Given the description of an element on the screen output the (x, y) to click on. 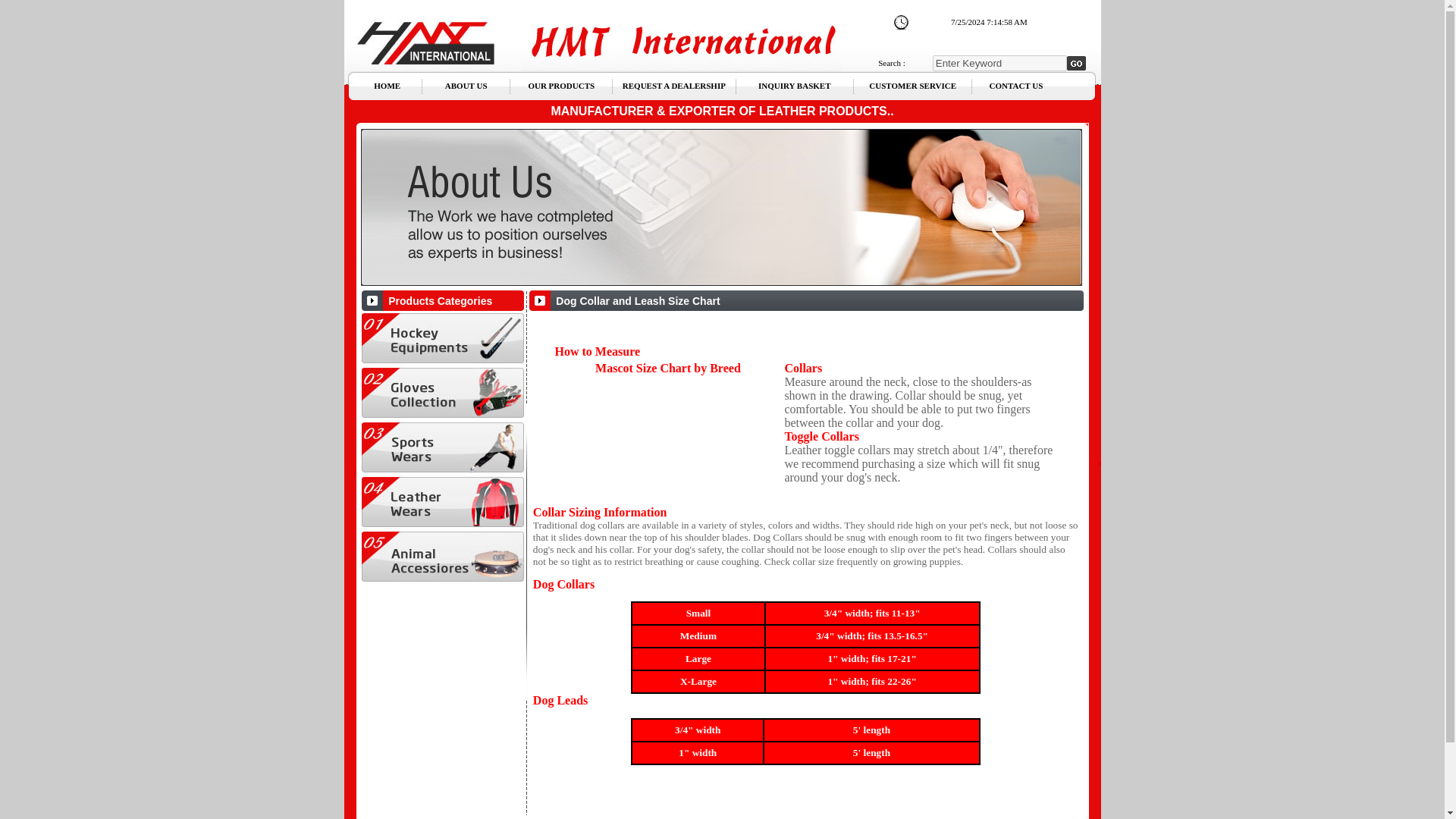
OUR PRODUCTS (560, 85)
CONTACT US (1016, 85)
ABOUT US (466, 85)
HOME (387, 85)
CUSTOMER SERVICE (912, 85)
Enter Keyword (1000, 62)
REQUEST A DEALERSHIP (674, 85)
INQUIRY BASKET (793, 85)
